Given the description of an element on the screen output the (x, y) to click on. 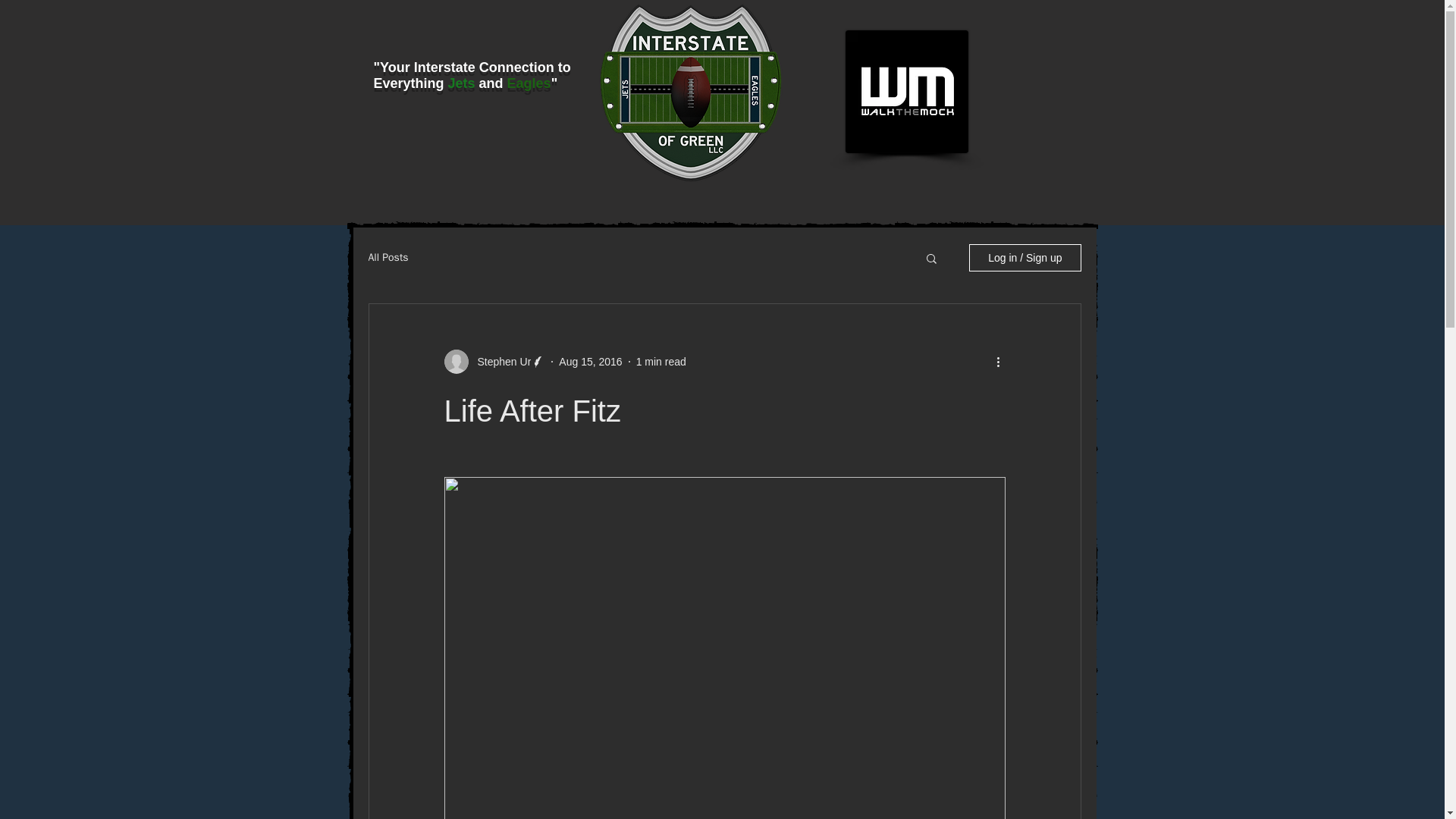
Stephen Ur (499, 360)
Aug 15, 2016 (590, 360)
All Posts (388, 257)
1 min read (660, 360)
